Given the description of an element on the screen output the (x, y) to click on. 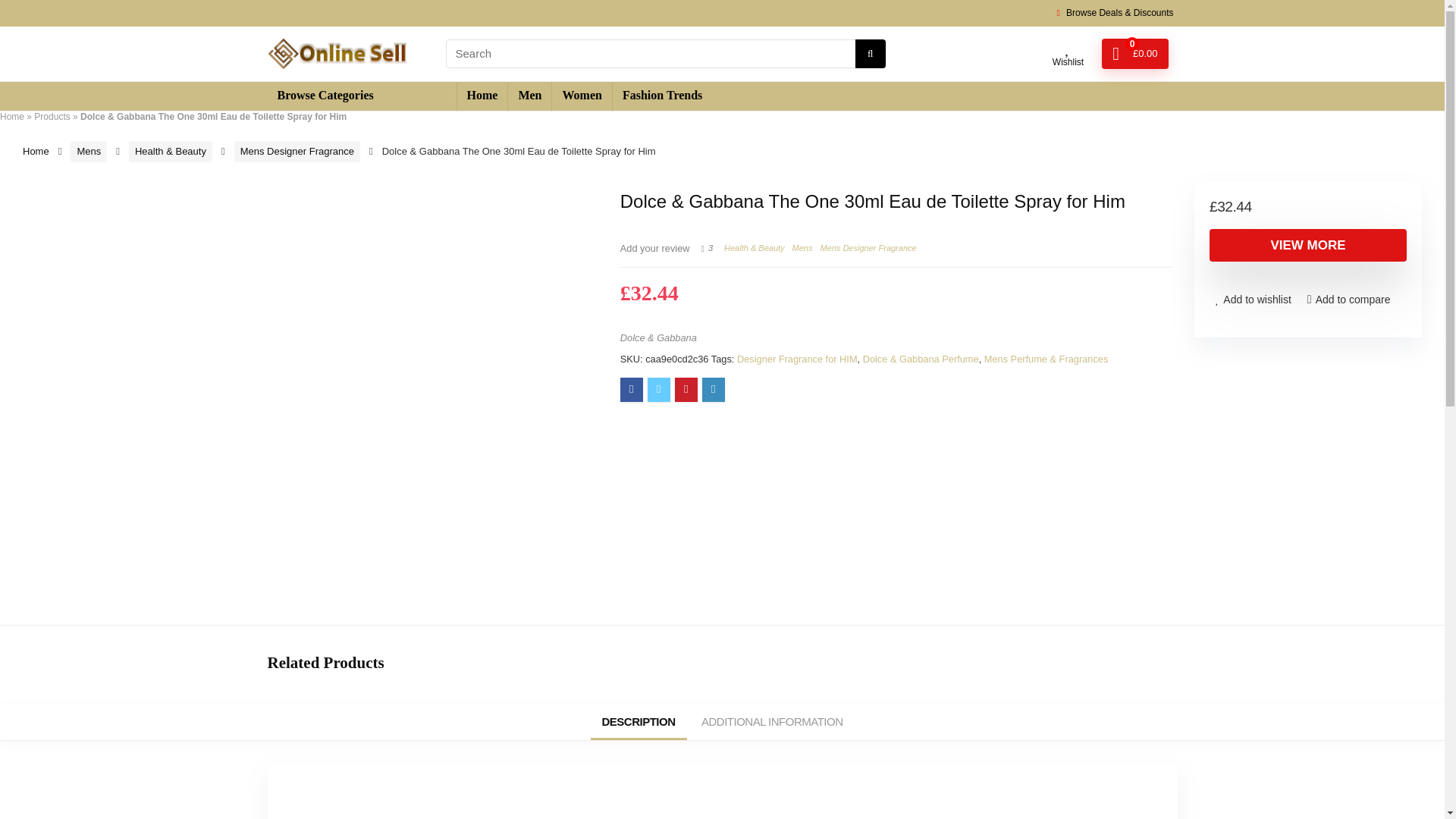
Fashion Trends (661, 95)
Add your review (655, 247)
Home (12, 116)
DESCRIPTION ADDITIONAL INFORMATION (721, 721)
Browse Categories (360, 95)
Men (529, 95)
Mens (87, 151)
Women (581, 95)
View all posts in Mens (802, 247)
View all posts in Mens Designer Fragrance (867, 247)
Products (51, 116)
Home (481, 95)
Home (36, 151)
